Given the description of an element on the screen output the (x, y) to click on. 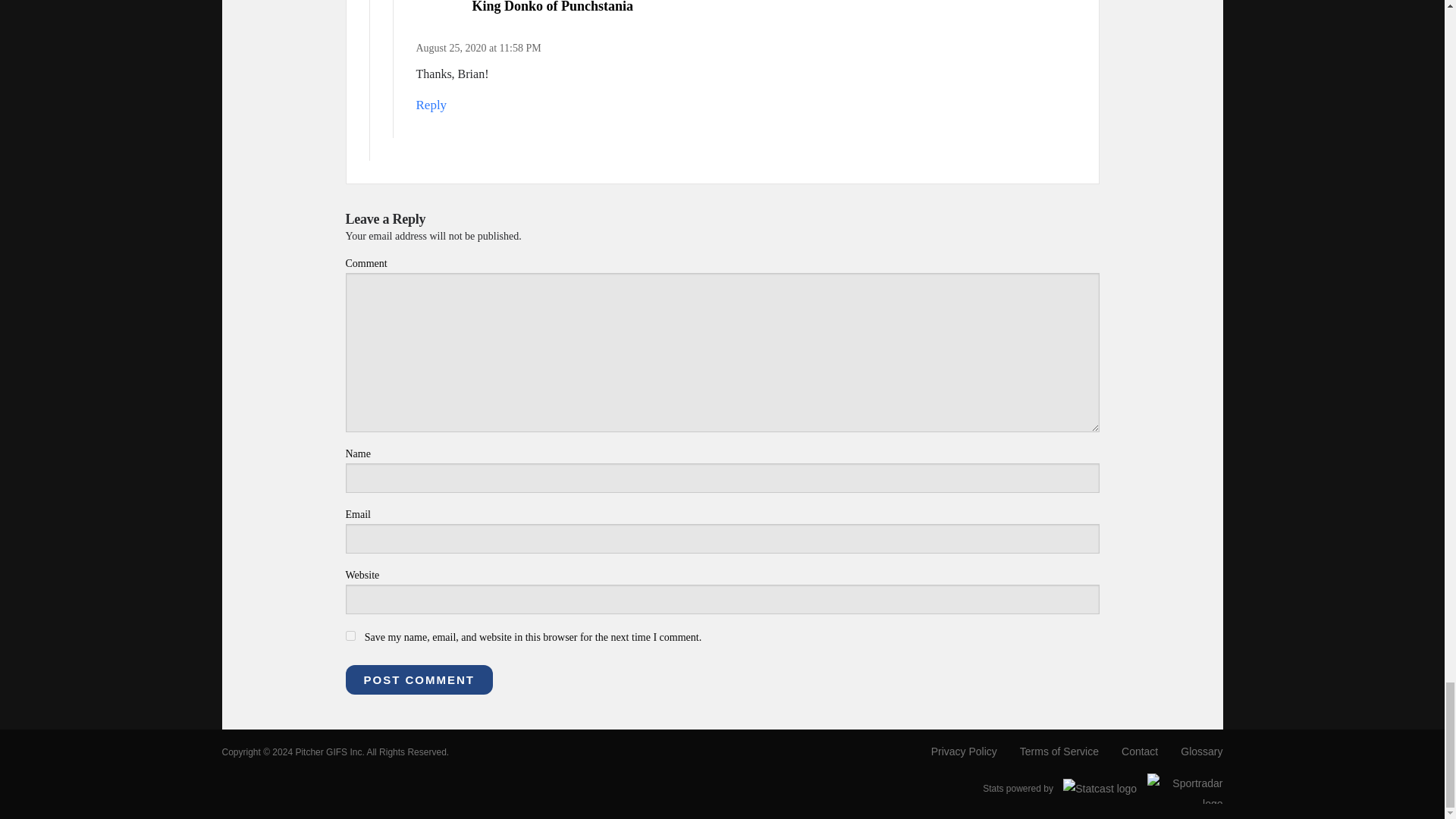
Post Comment (419, 679)
yes (350, 635)
